Given the description of an element on the screen output the (x, y) to click on. 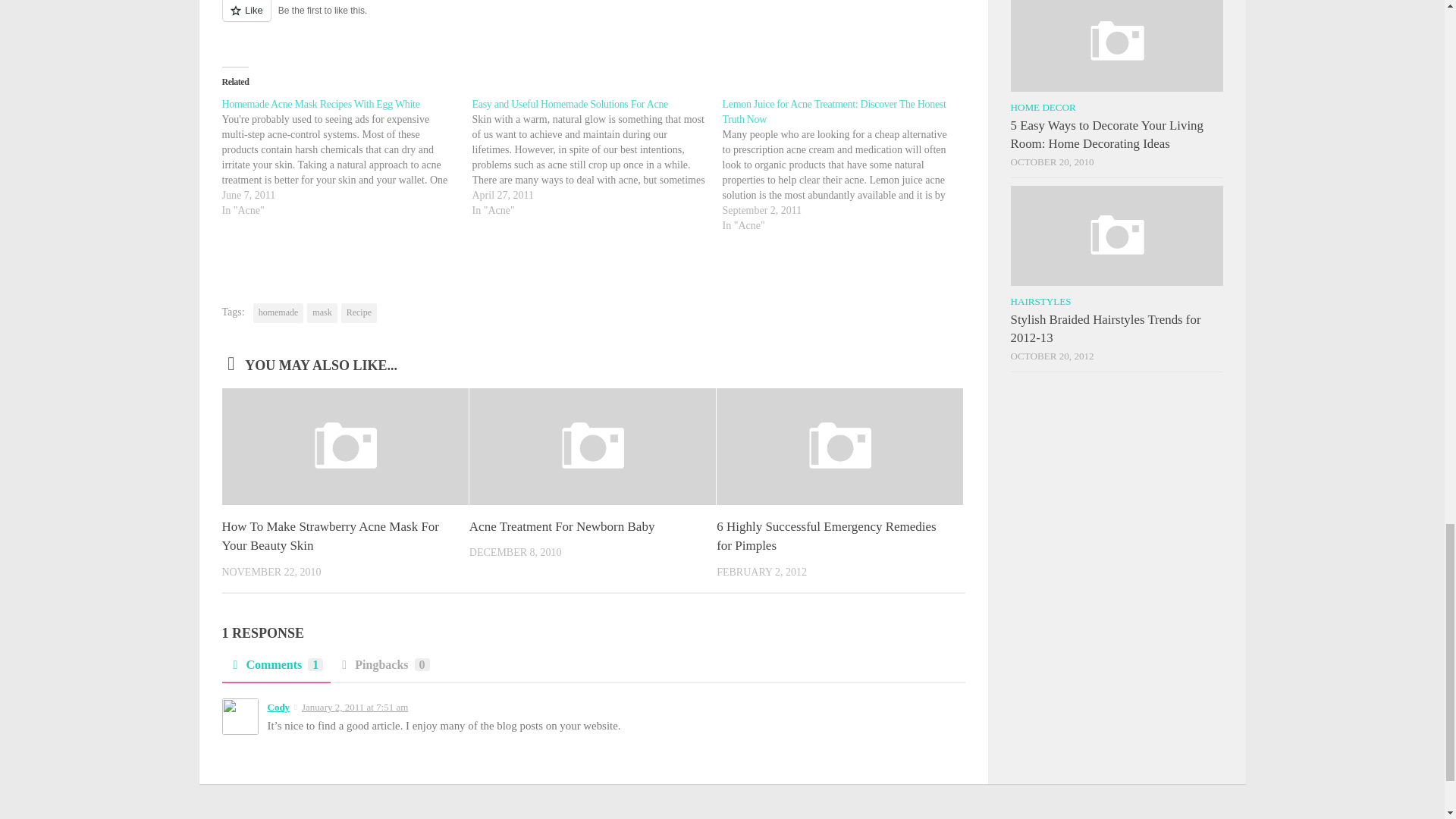
Easy and Useful Homemade Solutions For Acne (596, 157)
Homemade Acne Mask Recipes With Egg White (320, 103)
Homemade Acne Mask Recipes With Egg White (346, 157)
Easy and Useful Homemade Solutions For Acne (569, 103)
homemade (278, 312)
Homemade Acne Mask Recipes With Egg White (320, 103)
Easy and Useful Homemade Solutions For Acne (569, 103)
Like or Reblog (592, 19)
mask (321, 312)
